Given the description of an element on the screen output the (x, y) to click on. 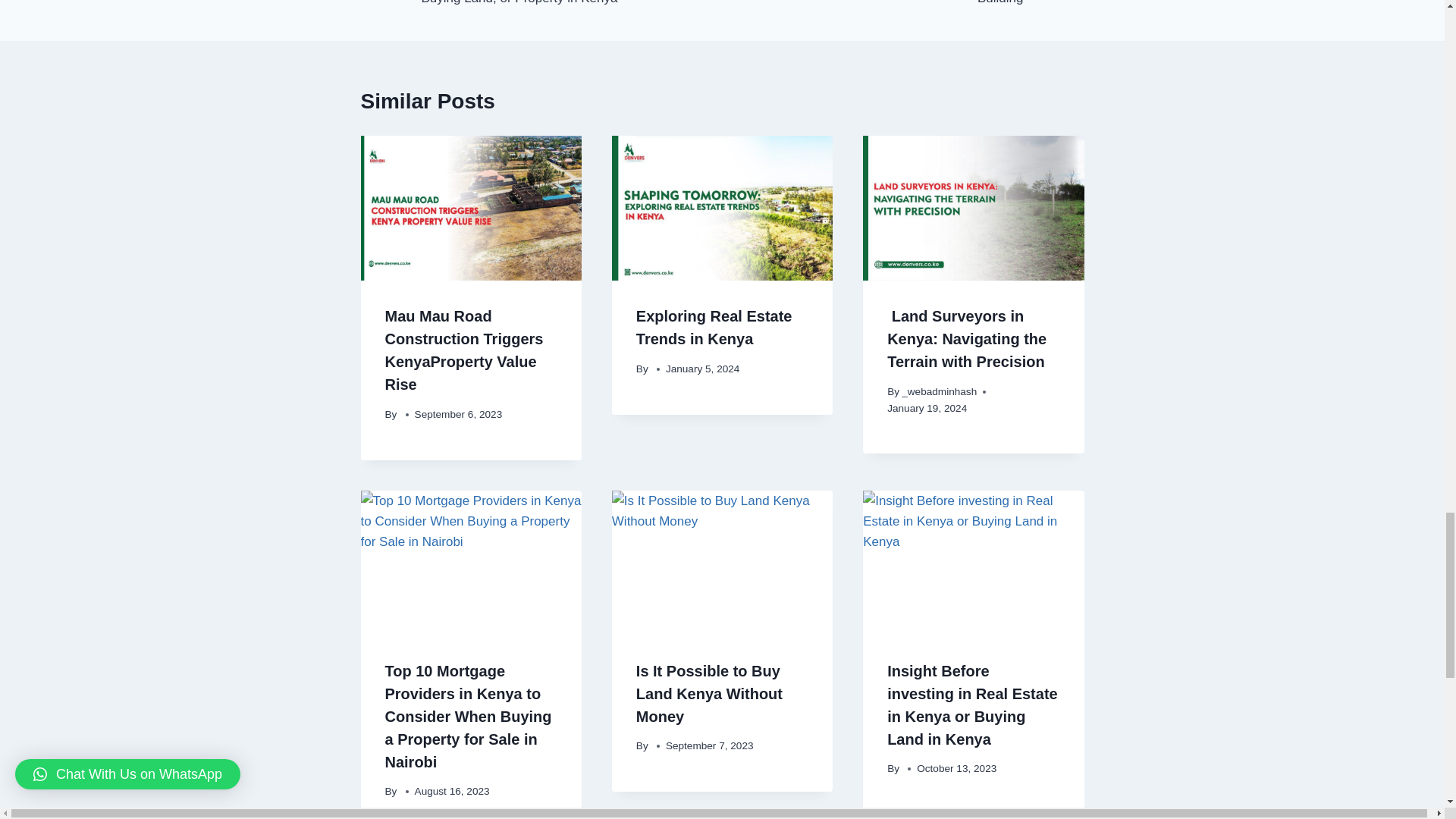
Mau Mau Road Construction Triggers KenyaProperty Value Rise (464, 350)
Exploring Real Estate Trends in Kenya (714, 327)
